Given the description of an element on the screen output the (x, y) to click on. 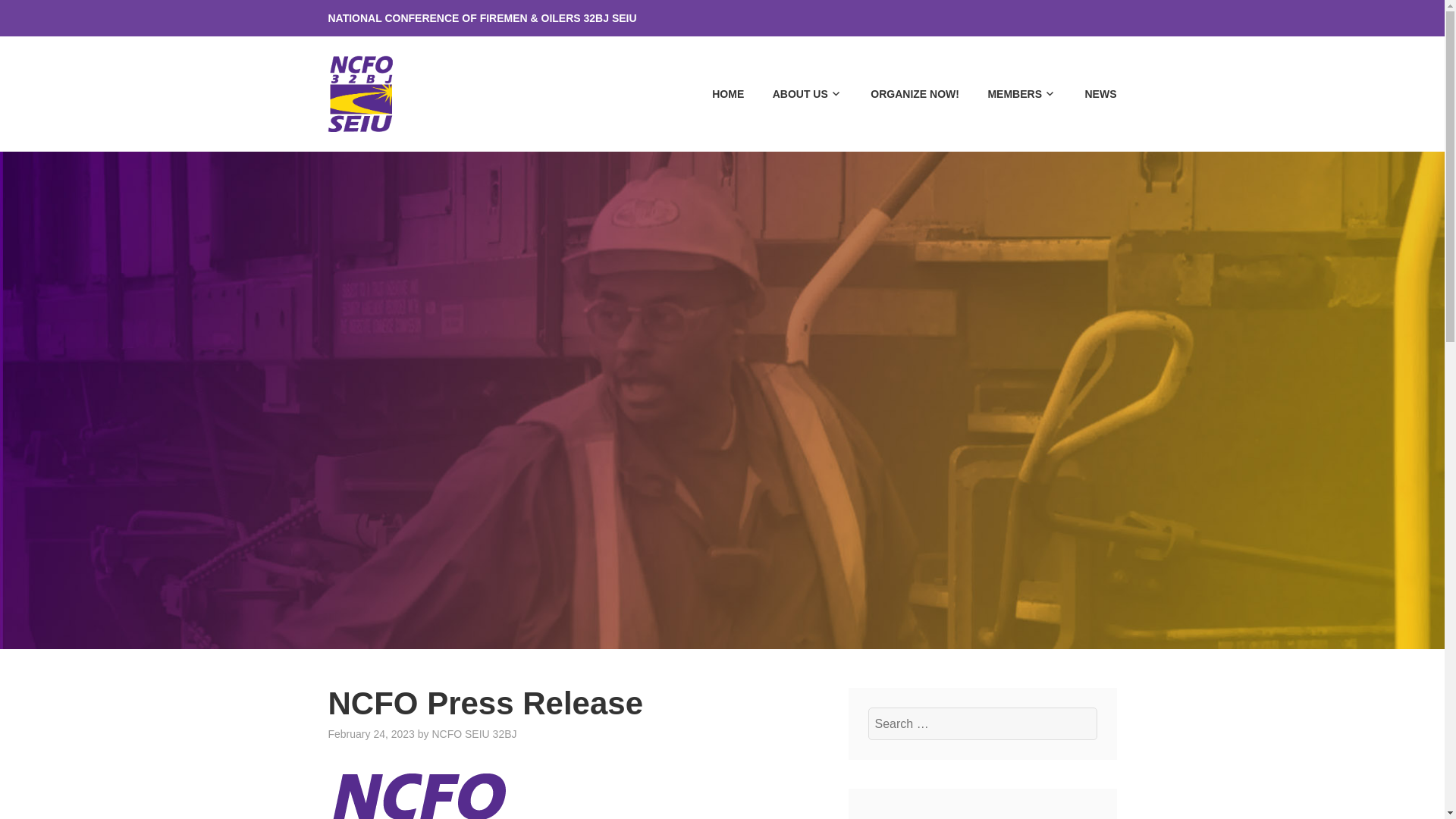
MEMBERS (1009, 93)
Search (48, 17)
ABOUT US (794, 93)
NEWS (1087, 93)
February 24, 2023 (370, 734)
HOME (715, 93)
NCFO SEIU 32BJ (473, 734)
ORGANIZE NOW! (902, 93)
